Given the description of an element on the screen output the (x, y) to click on. 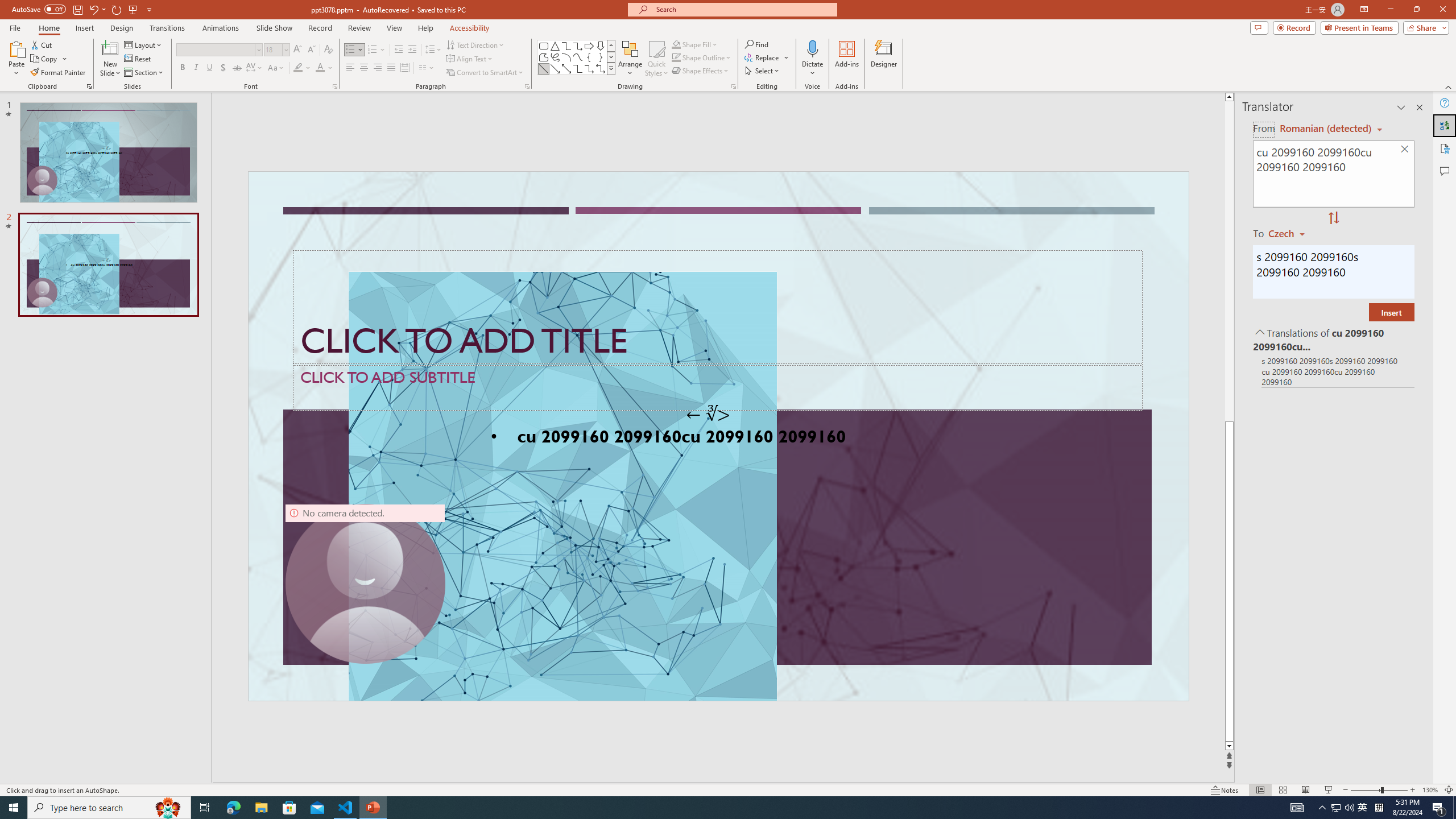
Clear text (1404, 149)
